Given the description of an element on the screen output the (x, y) to click on. 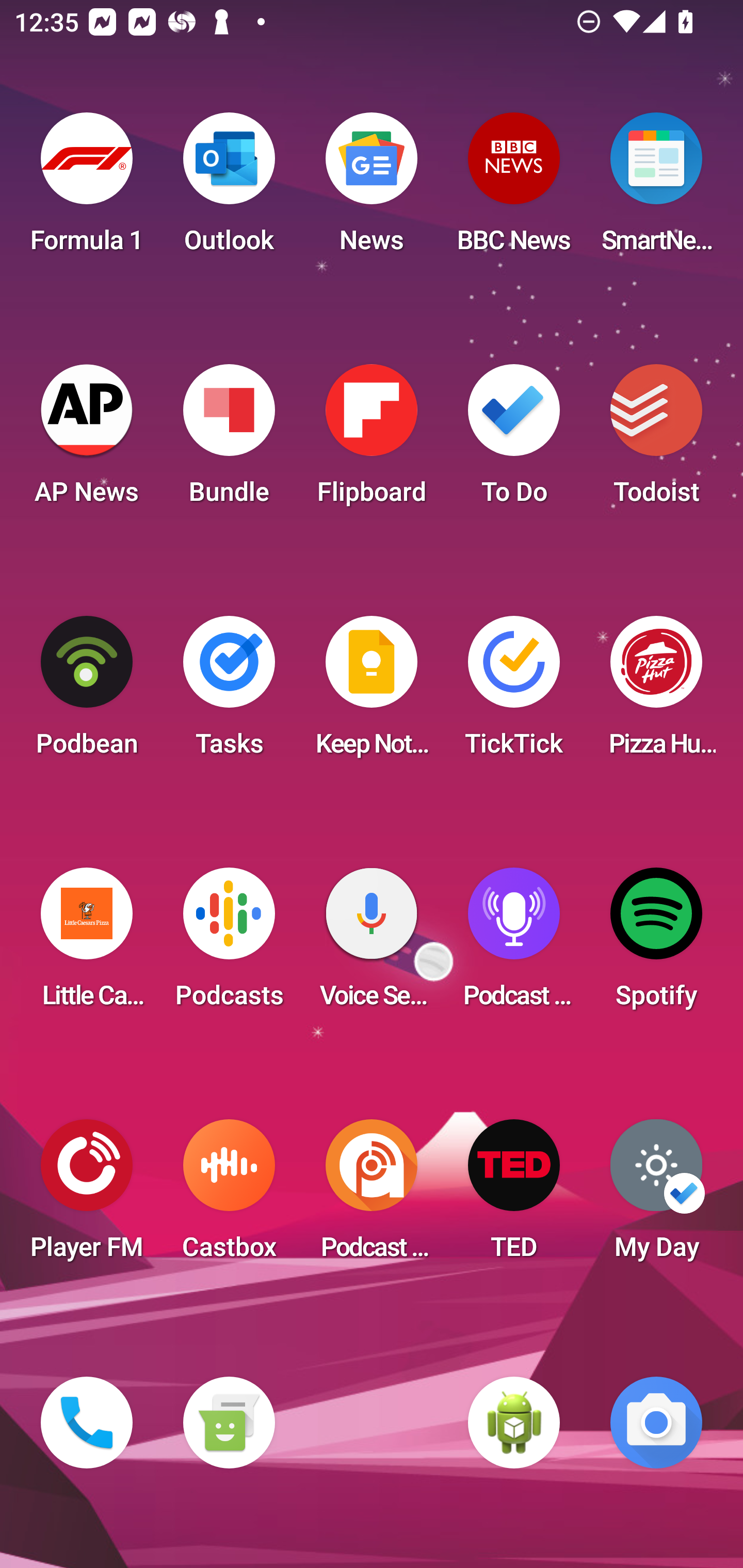
Formula 1 (86, 188)
Outlook (228, 188)
News (371, 188)
BBC News (513, 188)
SmartNews (656, 188)
AP News (86, 440)
Bundle (228, 440)
Flipboard (371, 440)
To Do (513, 440)
Todoist (656, 440)
Podbean (86, 692)
Tasks (228, 692)
Keep Notes (371, 692)
TickTick (513, 692)
Pizza Hut HK & Macau (656, 692)
Little Caesars Pizza (86, 943)
Podcasts (228, 943)
Voice Search (371, 943)
Podcast Player (513, 943)
Spotify (656, 943)
Player FM (86, 1195)
Castbox (228, 1195)
Podcast Addict (371, 1195)
TED (513, 1195)
My Day (656, 1195)
Phone (86, 1422)
Messaging (228, 1422)
WebView Browser Tester (513, 1422)
Camera (656, 1422)
